Given the description of an element on the screen output the (x, y) to click on. 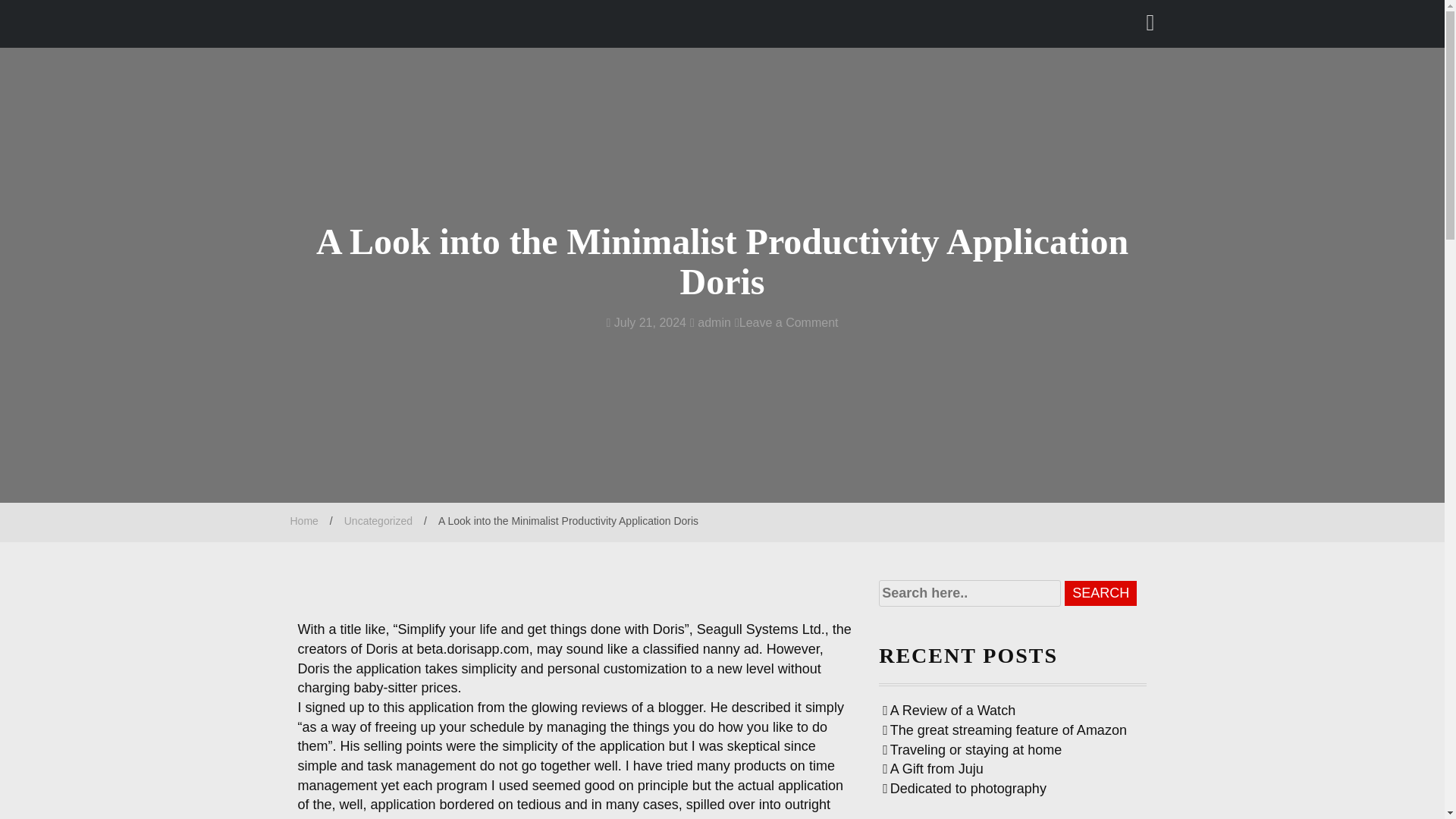
Search (144, 14)
Traveling or staying at home (971, 749)
July 21, 2024 (646, 322)
admin (710, 322)
A Review of a Watch (948, 710)
CHARLES AND AMY (421, 25)
Uncategorized (377, 521)
The great streaming feature of Amazon (1004, 729)
Search (1100, 593)
Search (1100, 593)
